Given the description of an element on the screen output the (x, y) to click on. 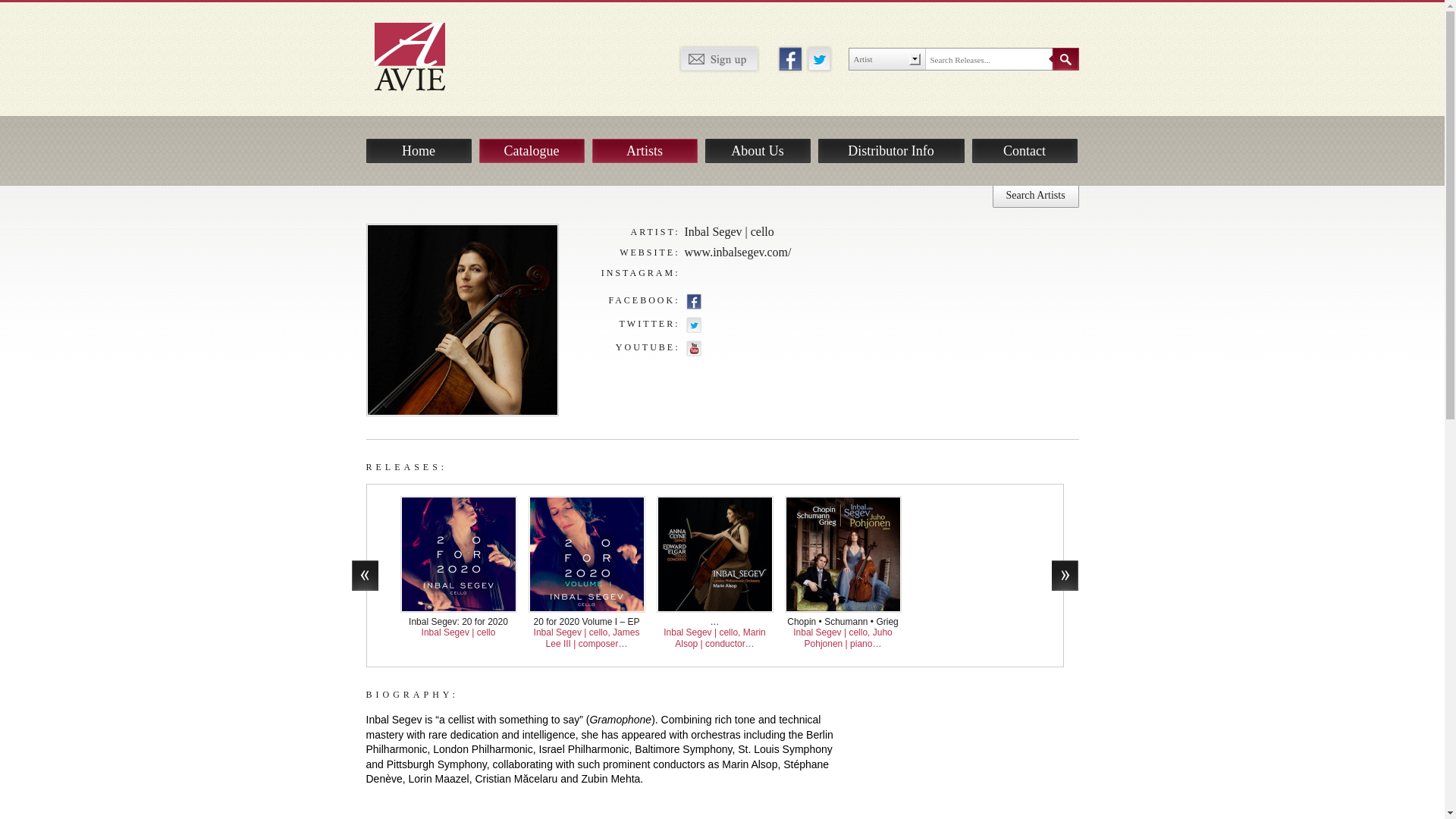
Avie Records (419, 54)
Join Avie Records on Facebook (788, 57)
Follow Avie Records on Twitter (817, 57)
Distributor Info (889, 150)
About Us (757, 150)
Contact (1024, 150)
Sign up for Avie updates (718, 57)
Artists (644, 150)
Home (417, 150)
Catalogue (532, 150)
